Given the description of an element on the screen output the (x, y) to click on. 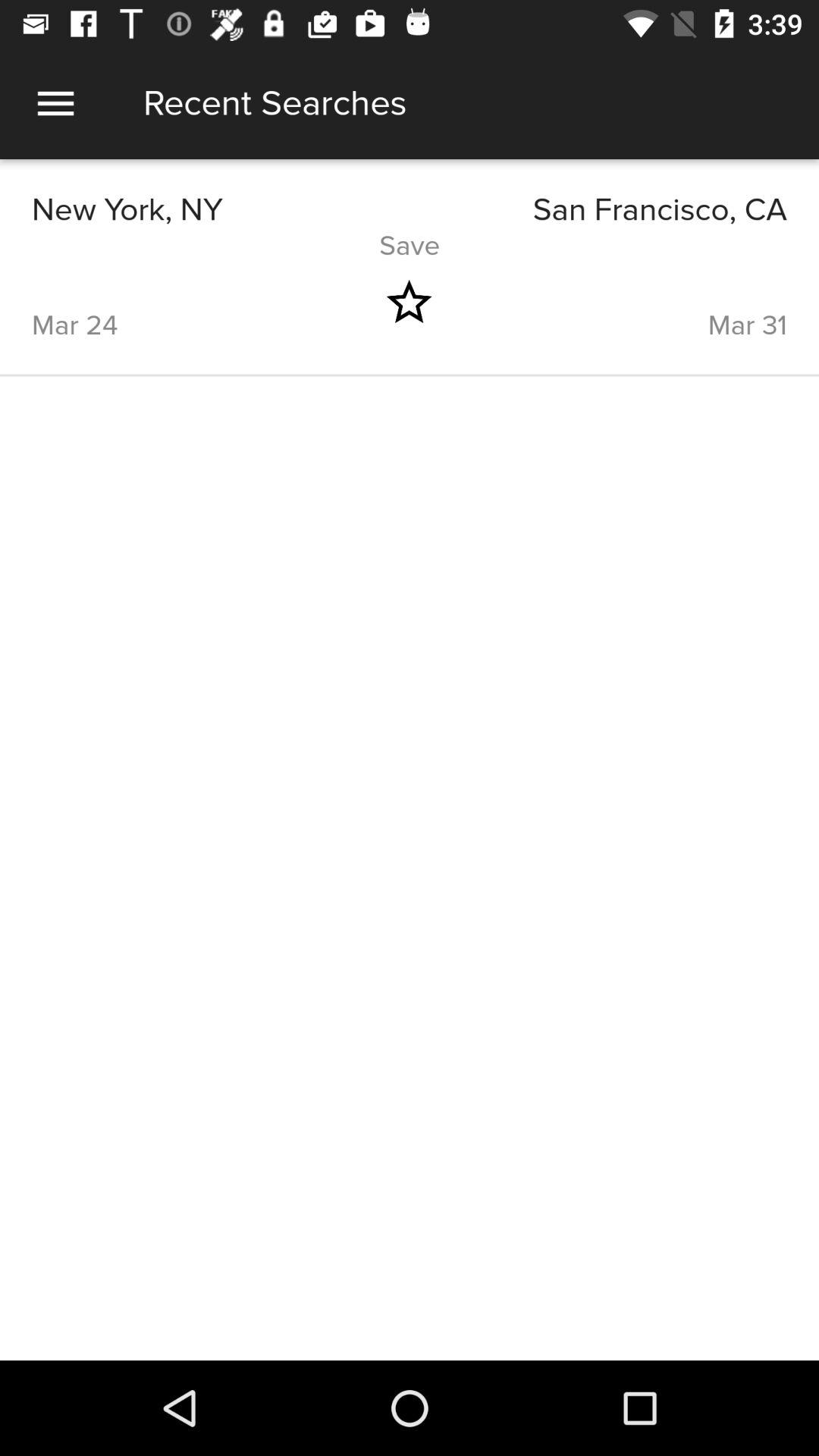
press the icon next to the mar 24 (408, 302)
